Given the description of an element on the screen output the (x, y) to click on. 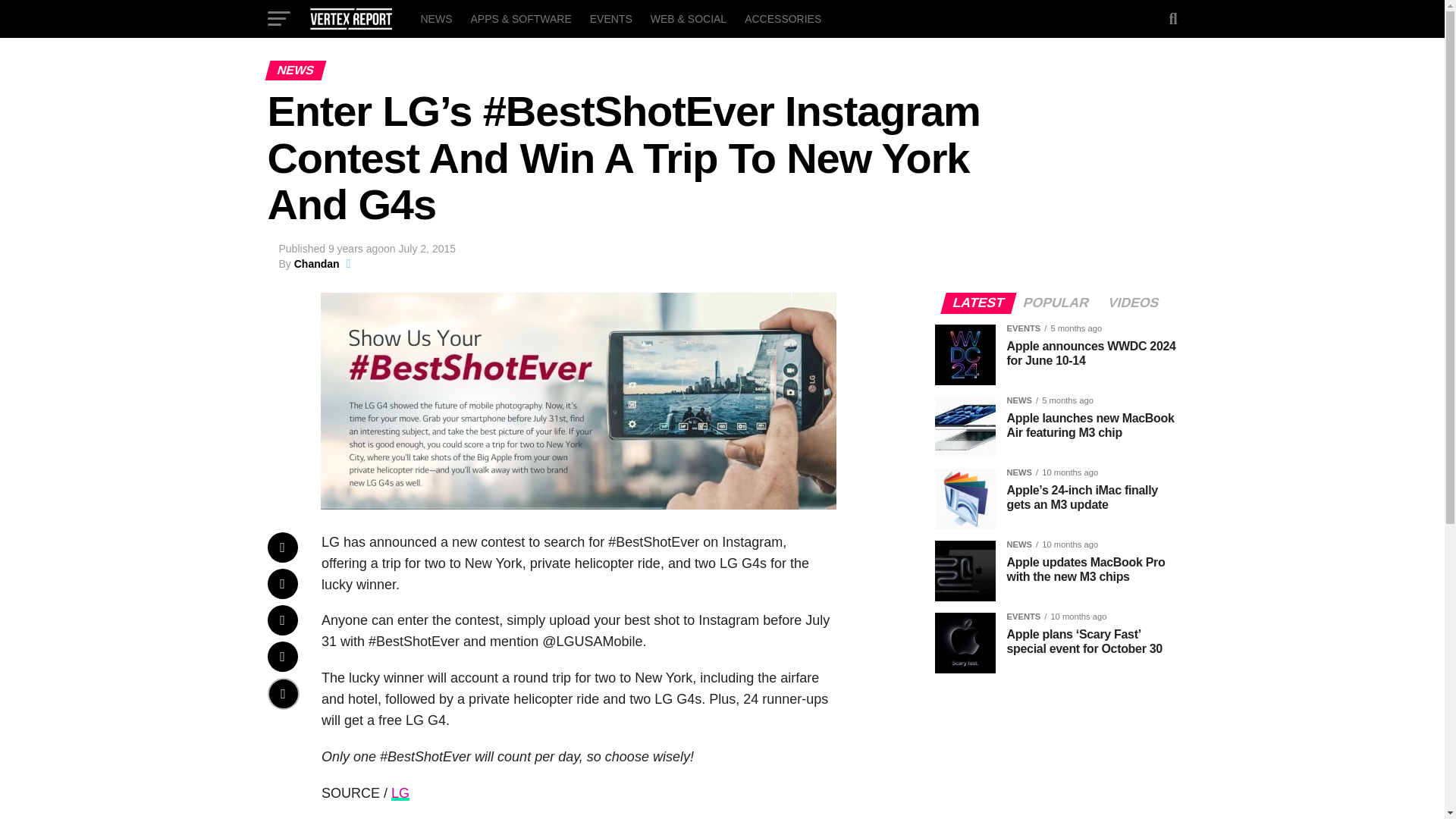
NEWS (435, 18)
Events (611, 18)
Posts by Chandan (316, 263)
ACCESSORIES (782, 18)
News (435, 18)
EVENTS (611, 18)
